Given the description of an element on the screen output the (x, y) to click on. 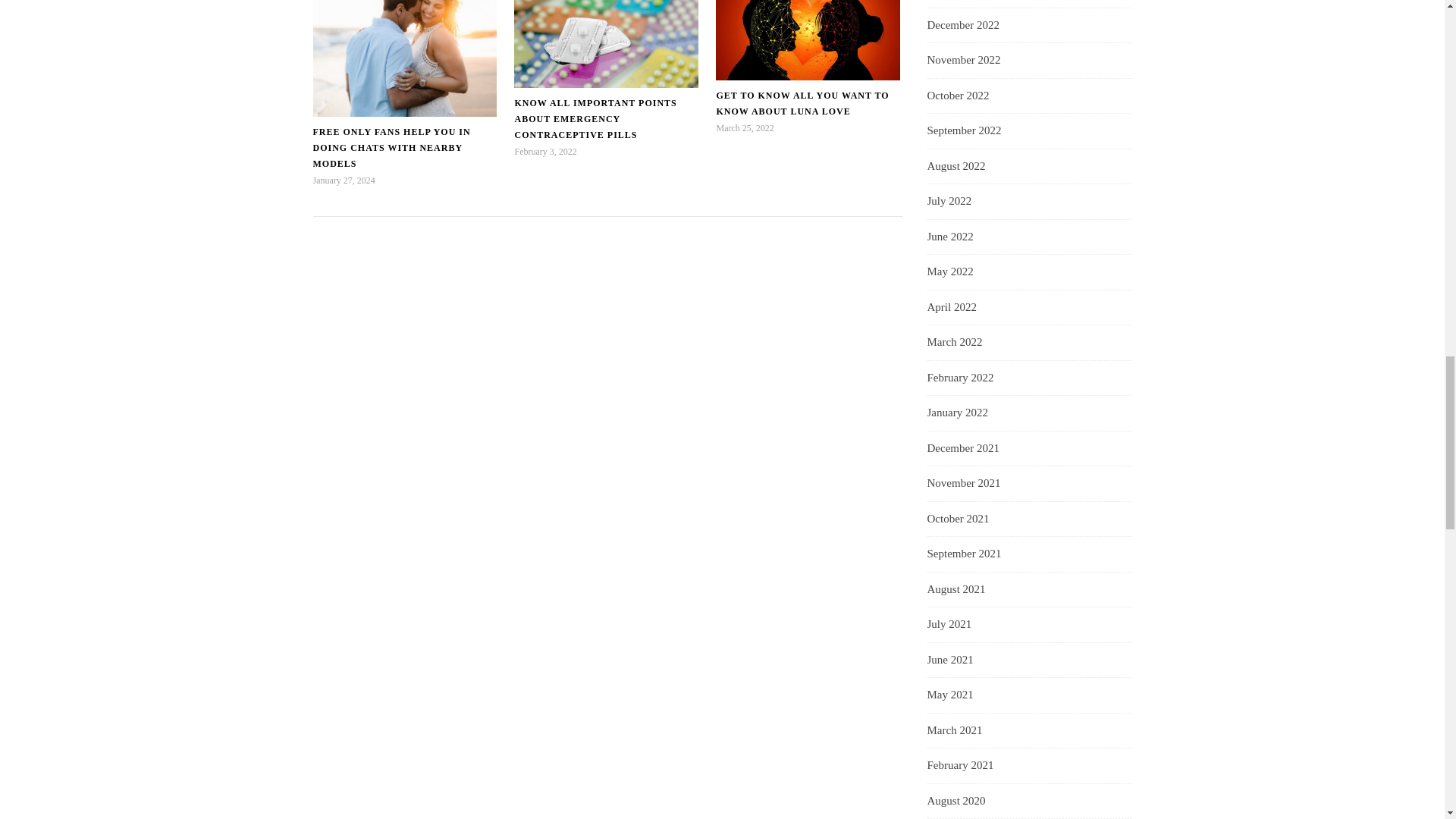
FREE ONLY FANS HELP YOU IN DOING CHATS WITH NEARBY MODELS (391, 147)
GET TO KNOW ALL YOU WANT TO KNOW ABOUT LUNA LOVE (802, 103)
